Given the description of an element on the screen output the (x, y) to click on. 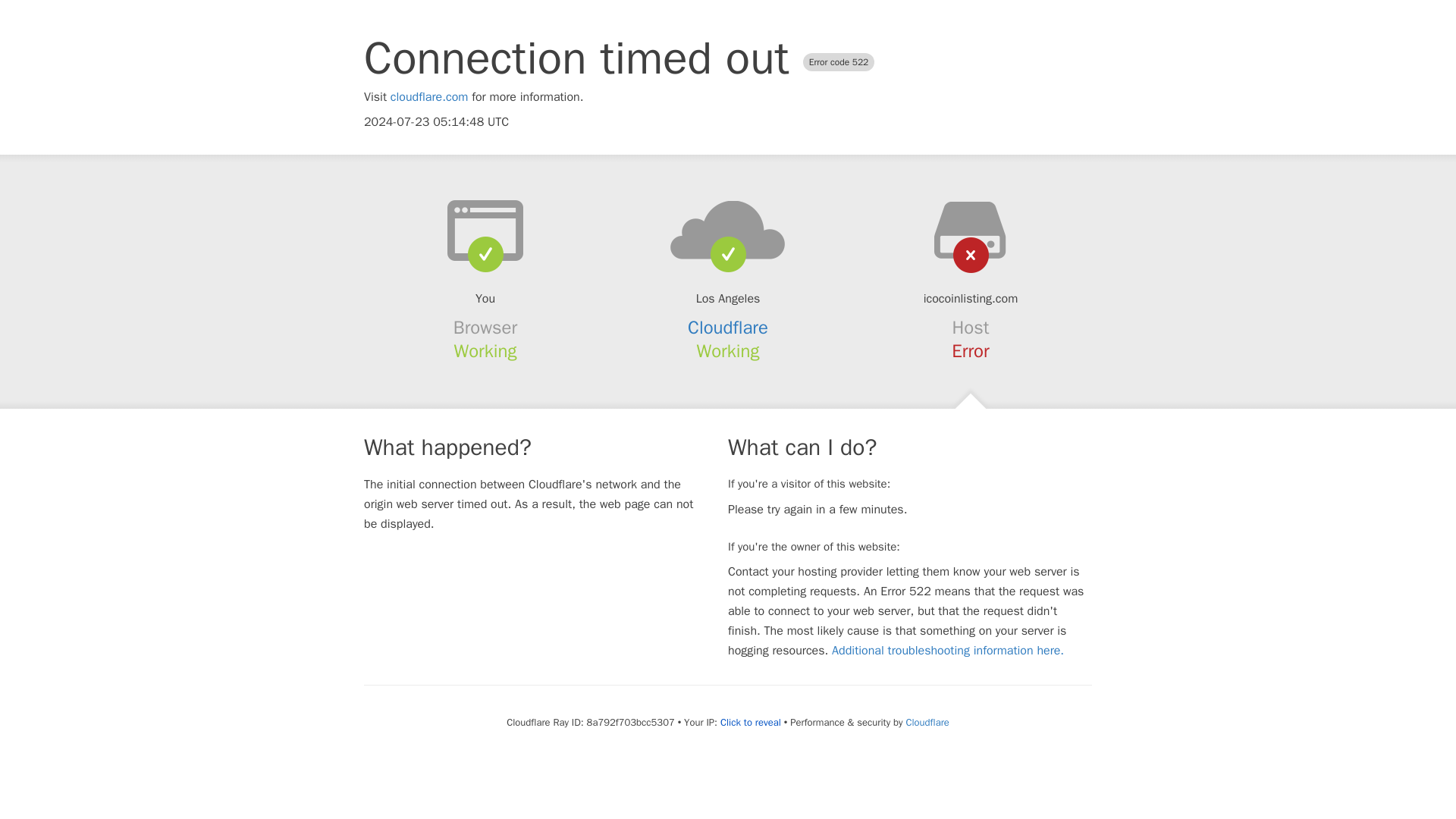
cloudflare.com (429, 96)
Additional troubleshooting information here. (947, 650)
Cloudflare (927, 721)
Cloudflare (727, 327)
Click to reveal (750, 722)
